Given the description of an element on the screen output the (x, y) to click on. 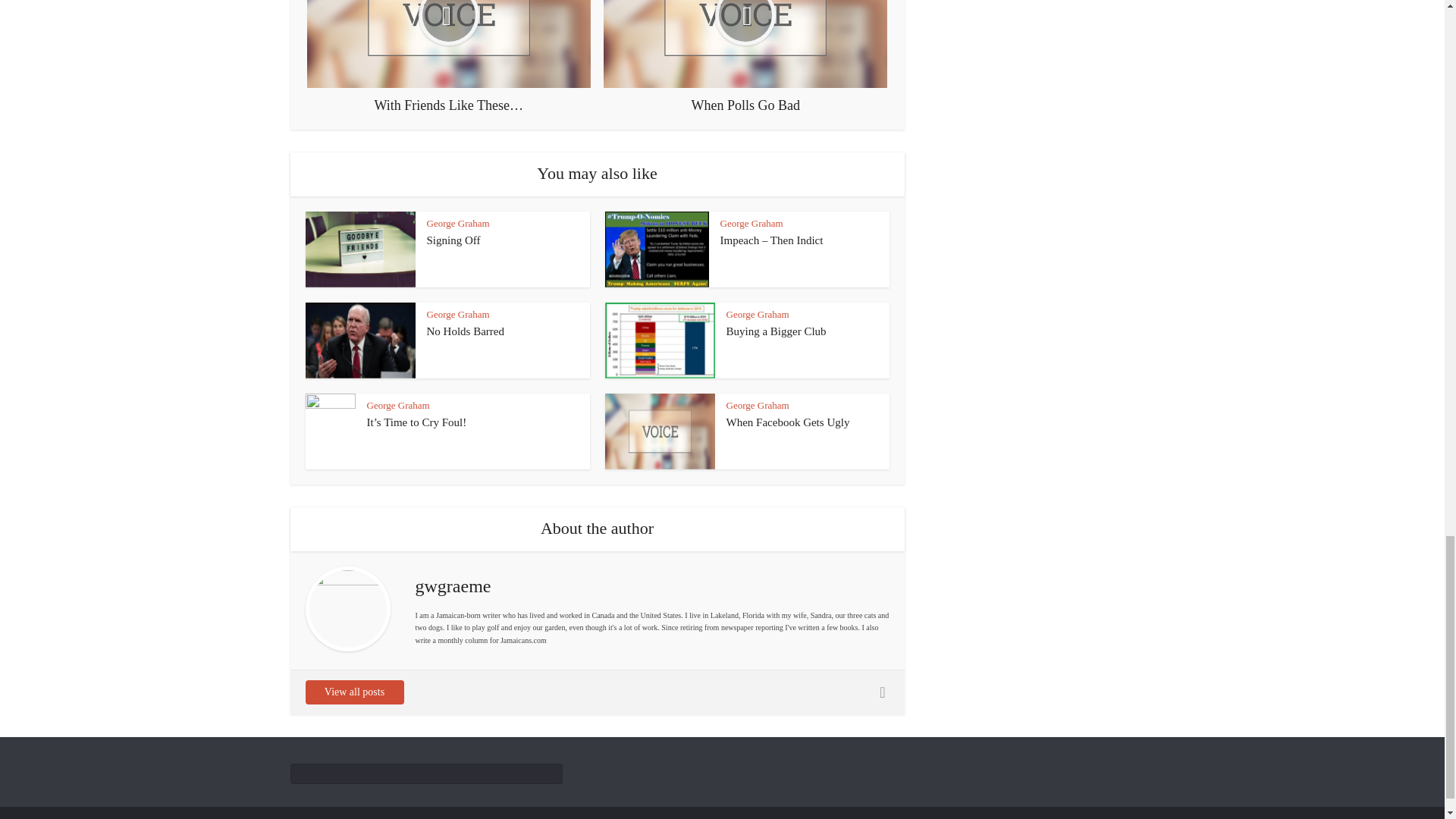
When Polls Go Bad (745, 56)
Buying a Bigger Club (776, 331)
When Facebook Gets Ugly (788, 422)
No Holds Barred (464, 331)
George Graham (457, 223)
Signing Off (453, 240)
Signing Off (453, 240)
